Given the description of an element on the screen output the (x, y) to click on. 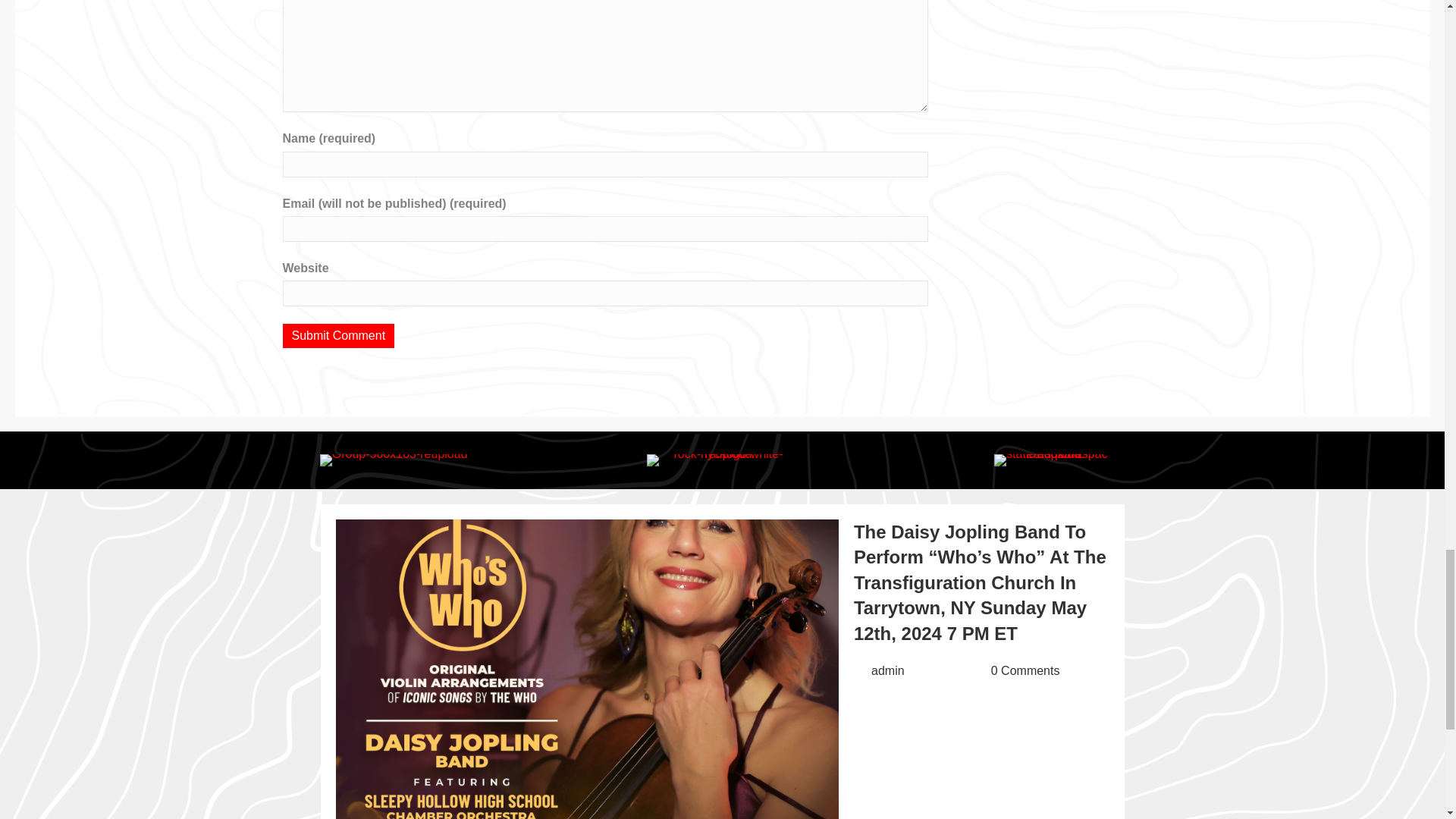
Group-500x103-reupload (393, 460)
static1.squarespace-500x371-reupload (1051, 460)
Submit Comment (338, 335)
rock-nyc-logo-white-reupload (721, 460)
